Given the description of an element on the screen output the (x, y) to click on. 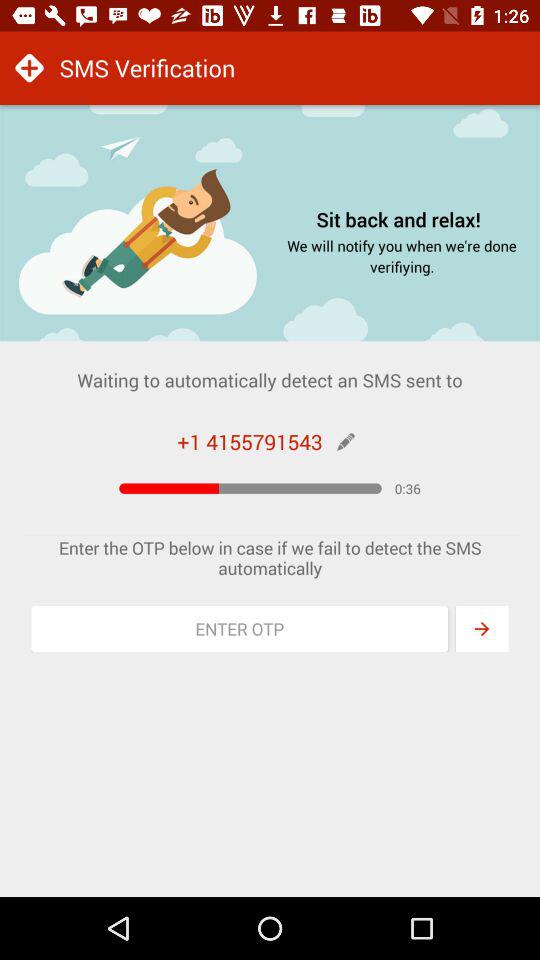
continue to next page (482, 629)
